Given the description of an element on the screen output the (x, y) to click on. 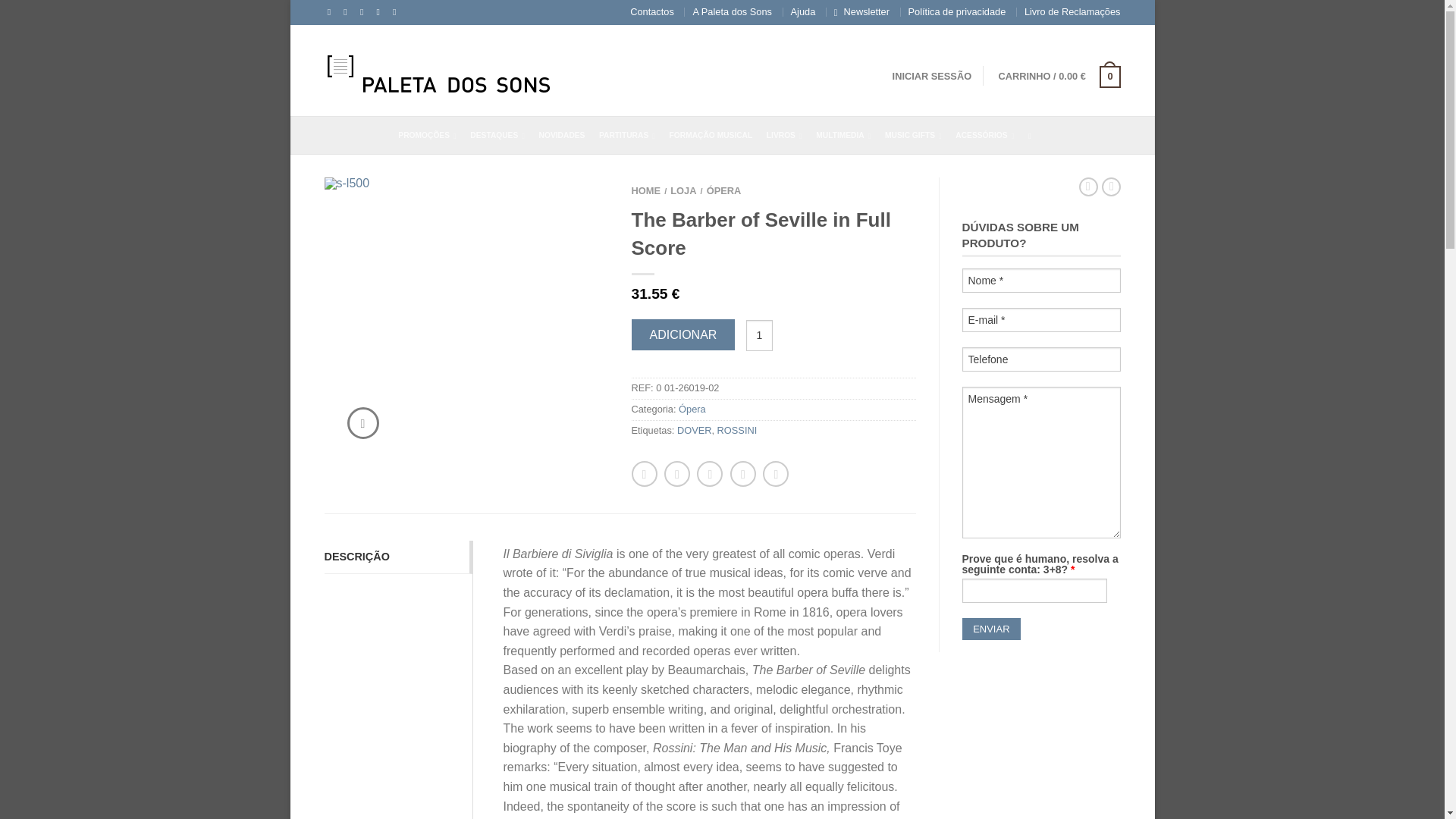
Share on Facebook (329, 11)
NOVIDADES (567, 135)
s-l500 (466, 319)
Ajuda (802, 11)
Pin on Pinterest (377, 11)
Email to a Friend (709, 473)
Share on Twitter (676, 473)
Pin on Pinterest (742, 473)
DESTAQUES (502, 135)
Zoom (362, 422)
Share on Facebook (643, 473)
Newsletter (866, 11)
PARTITURAS (632, 135)
Email to a Friend (361, 11)
Enviar (990, 628)
